Given the description of an element on the screen output the (x, y) to click on. 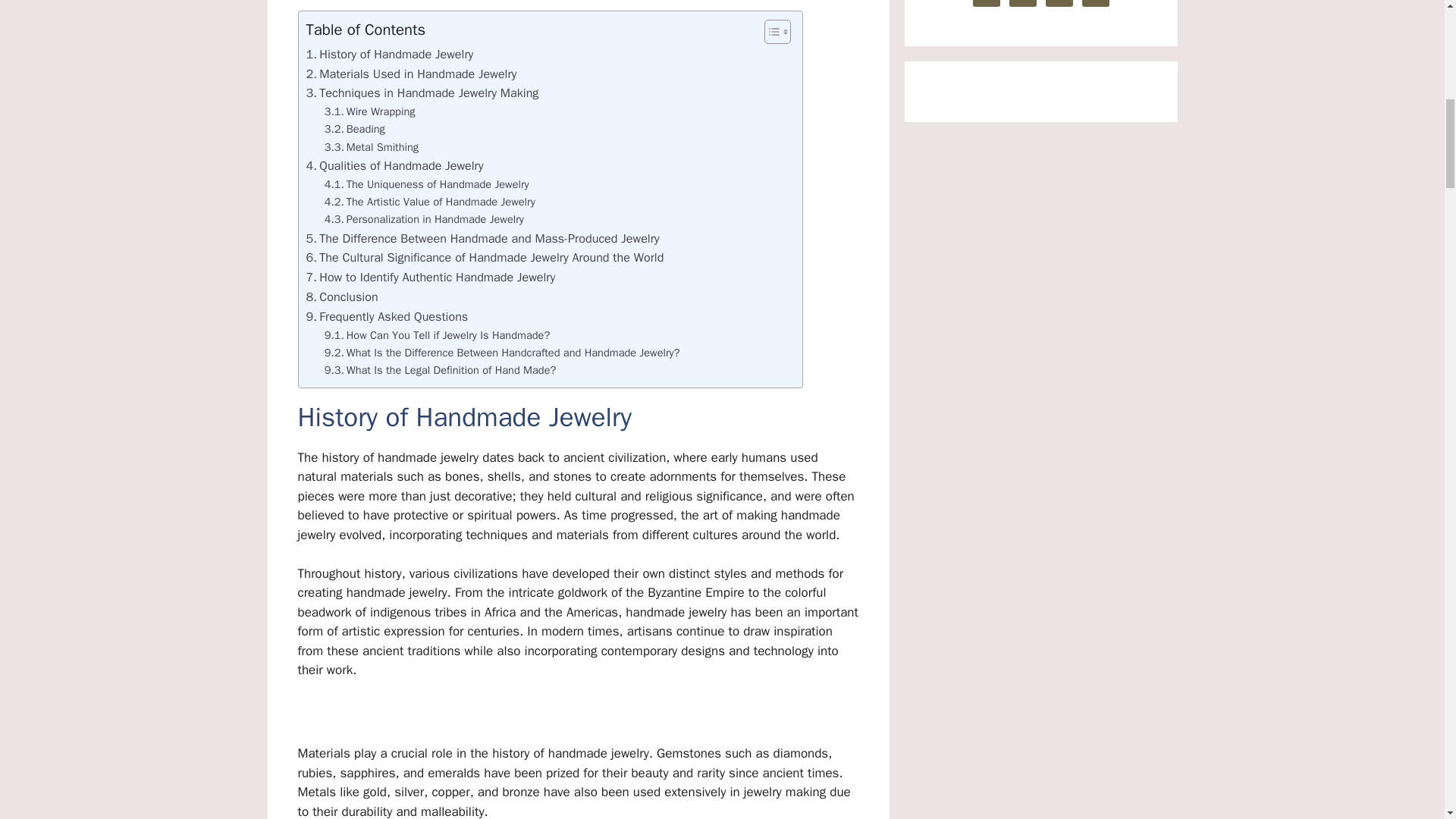
Frequently Asked Questions (386, 316)
Conclusion (341, 297)
Beading (354, 129)
History of Handmade Jewelry (389, 54)
How to Identify Authentic Handmade Jewelry (430, 277)
Qualities of Handmade Jewelry (394, 166)
The Artistic Value of Handmade Jewelry (429, 201)
Techniques in Handmade Jewelry Making (421, 93)
The Uniqueness of Handmade Jewelry (426, 184)
Metal Smithing (371, 147)
Personalization in Handmade Jewelry (424, 219)
Wire Wrapping (369, 111)
The Difference Between Handmade and Mass-Produced Jewelry (482, 238)
Materials Used in Handmade Jewelry (410, 74)
